Given the description of an element on the screen output the (x, y) to click on. 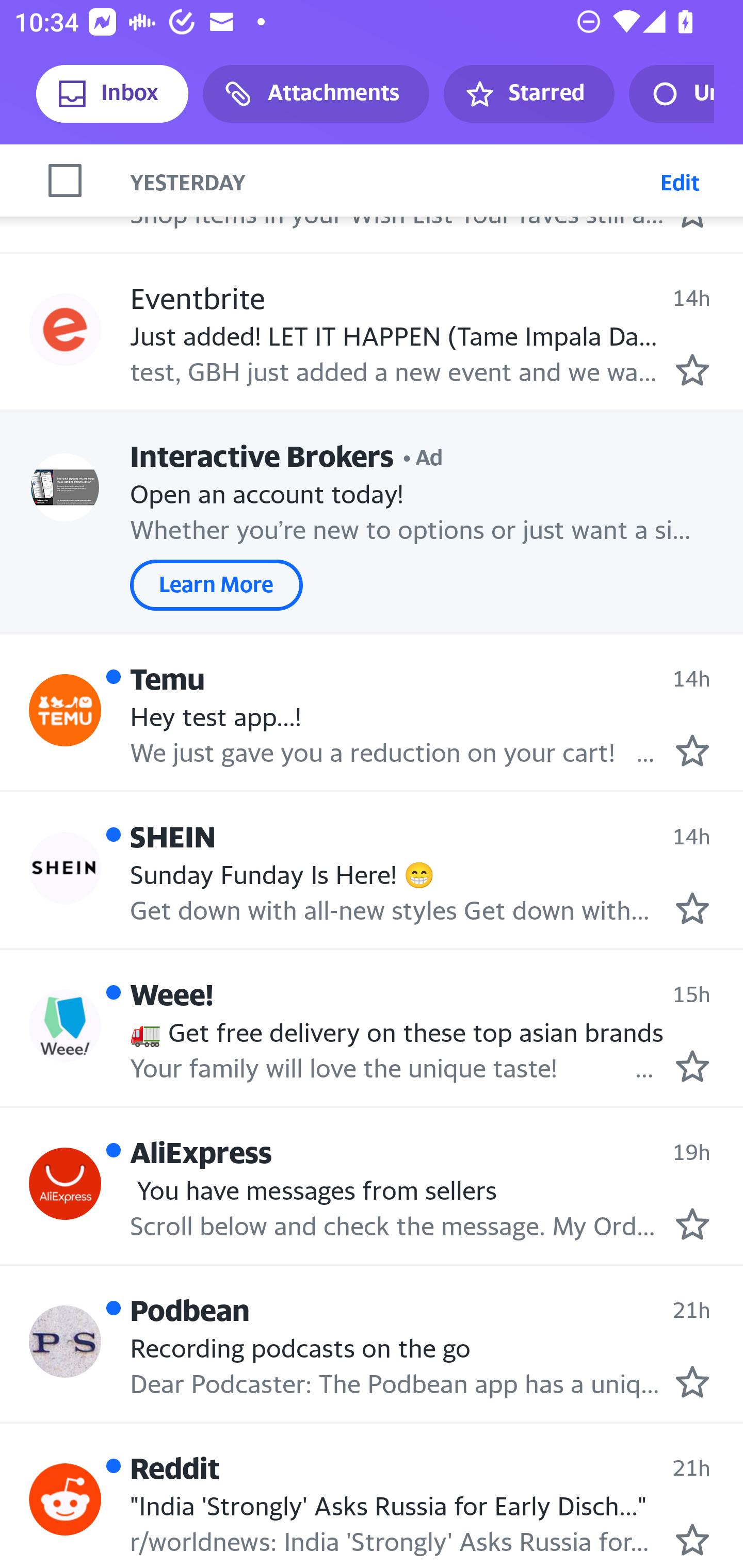
Attachments (315, 93)
Starred (528, 93)
Profile
AliExpress (64, 176)
Profile
Eventbrite (64, 329)
Mark as starred. (692, 369)
Profile
Temu (64, 710)
Mark as starred. (692, 750)
Profile
SHEIN (64, 868)
Mark as starred. (692, 908)
Profile
Weee! (64, 1025)
Mark as starred. (692, 1065)
Profile
AliExpress (64, 1183)
Mark as starred. (692, 1223)
Profile
Podbean (64, 1342)
Mark as starred. (692, 1382)
Profile
Reddit (64, 1498)
Mark as starred. (692, 1538)
